Given the description of an element on the screen output the (x, y) to click on. 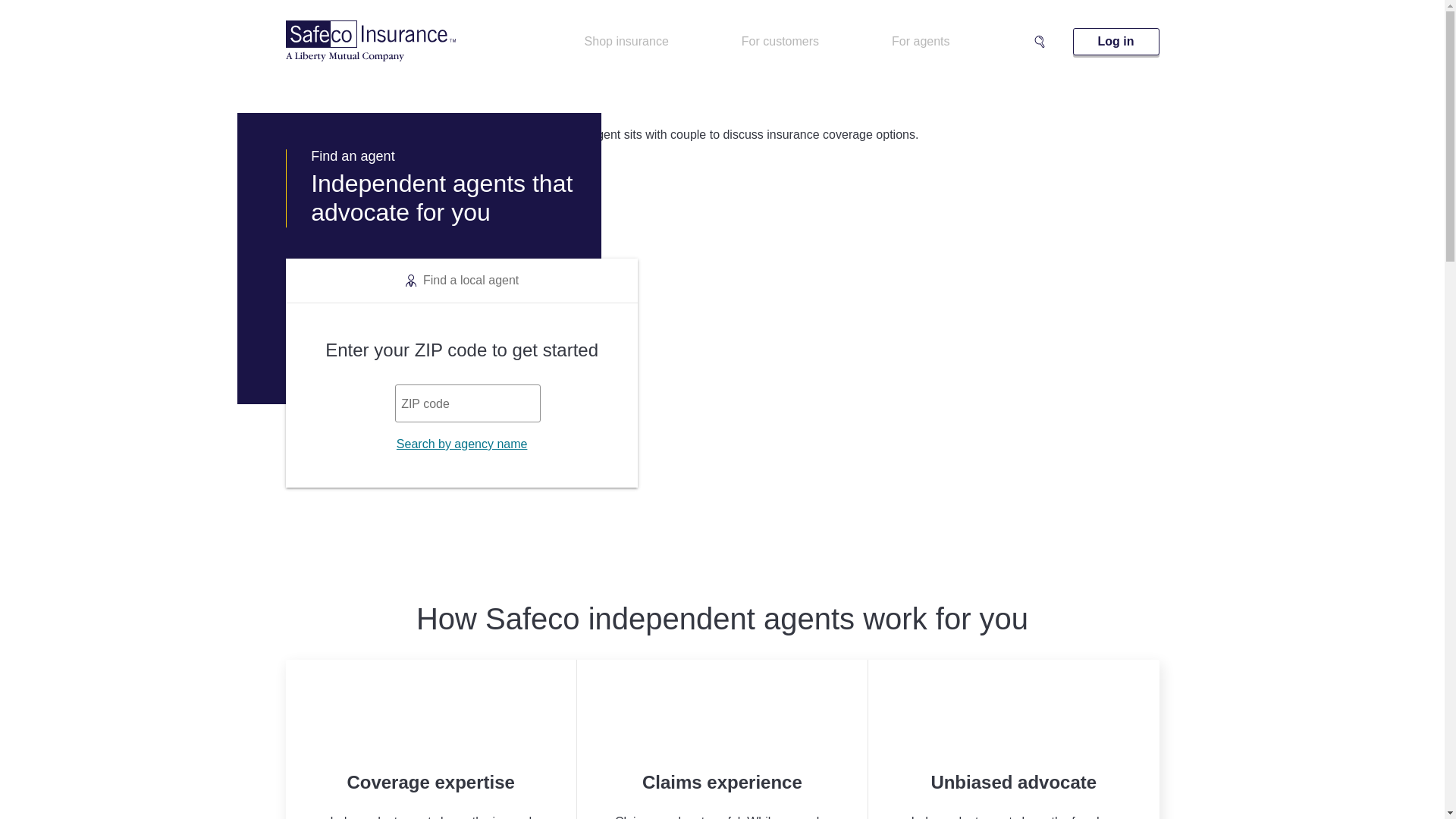
Log in (1115, 40)
For customers (779, 41)
For agents (920, 41)
Shop insurance (626, 41)
